Given the description of an element on the screen output the (x, y) to click on. 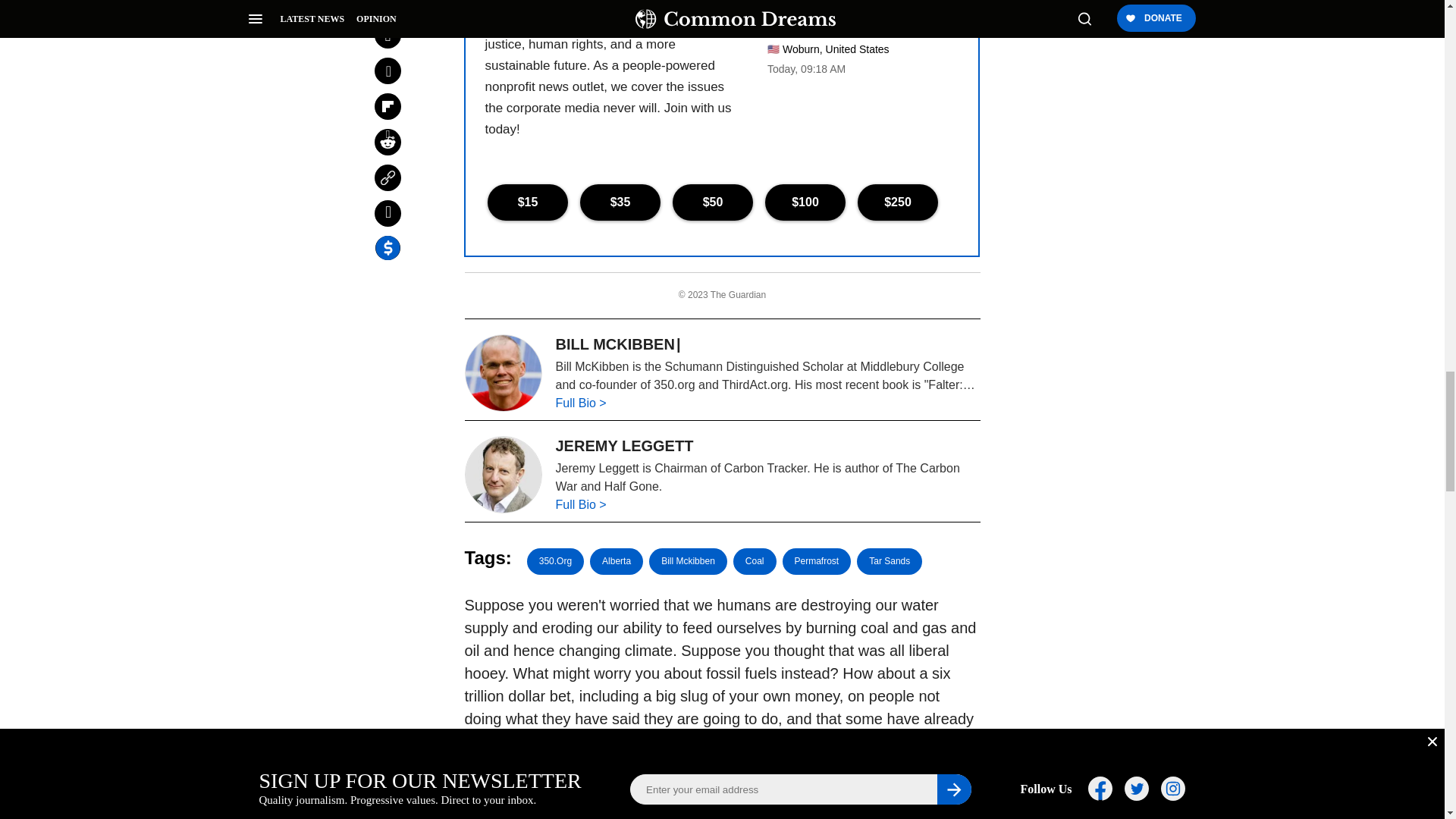
Donate Button Group (721, 202)
Recent Donations (852, 76)
